Given the description of an element on the screen output the (x, y) to click on. 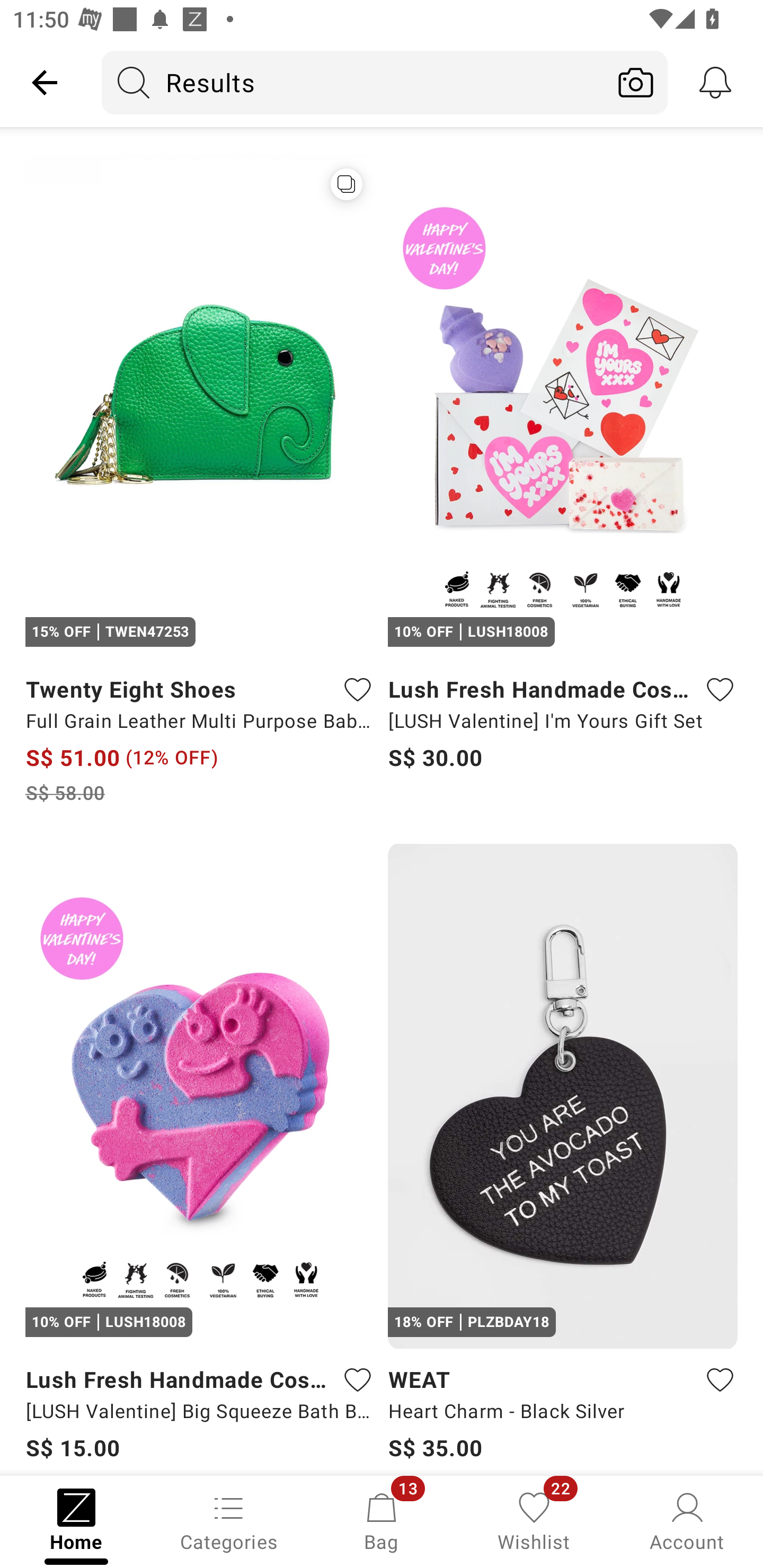
Navigate up (44, 82)
Results (352, 82)
Categories (228, 1519)
Bag, 13 new notifications Bag (381, 1519)
Wishlist, 22 new notifications Wishlist (533, 1519)
Account (686, 1519)
